Given the description of an element on the screen output the (x, y) to click on. 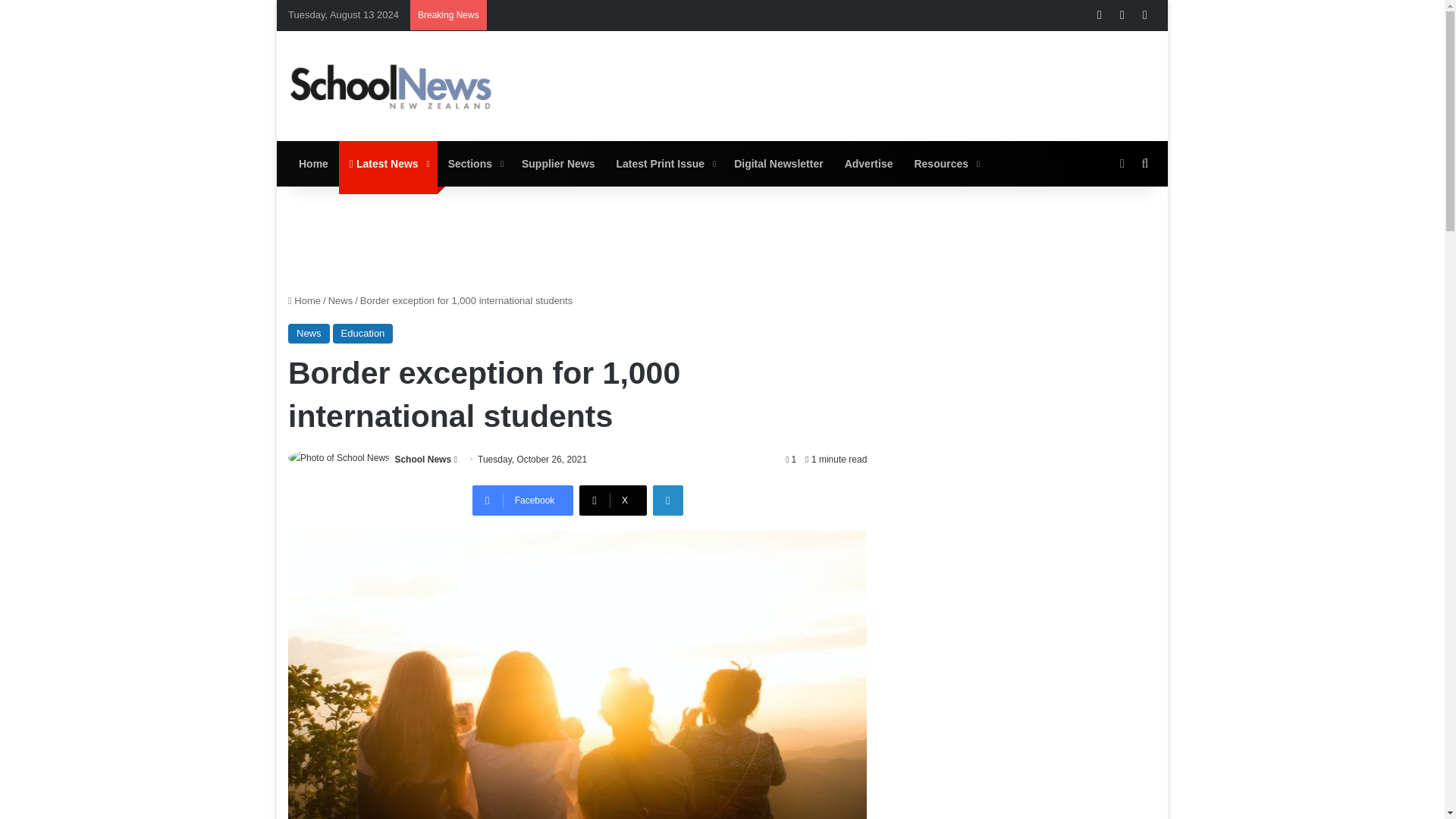
Education (363, 333)
Latest Print Issue (664, 163)
Home (313, 163)
SchoolNews - New Zealand (390, 85)
Advertise (869, 163)
News (309, 333)
Supplier News (558, 163)
Sections (474, 163)
Home (304, 300)
News (341, 300)
